Given the description of an element on the screen output the (x, y) to click on. 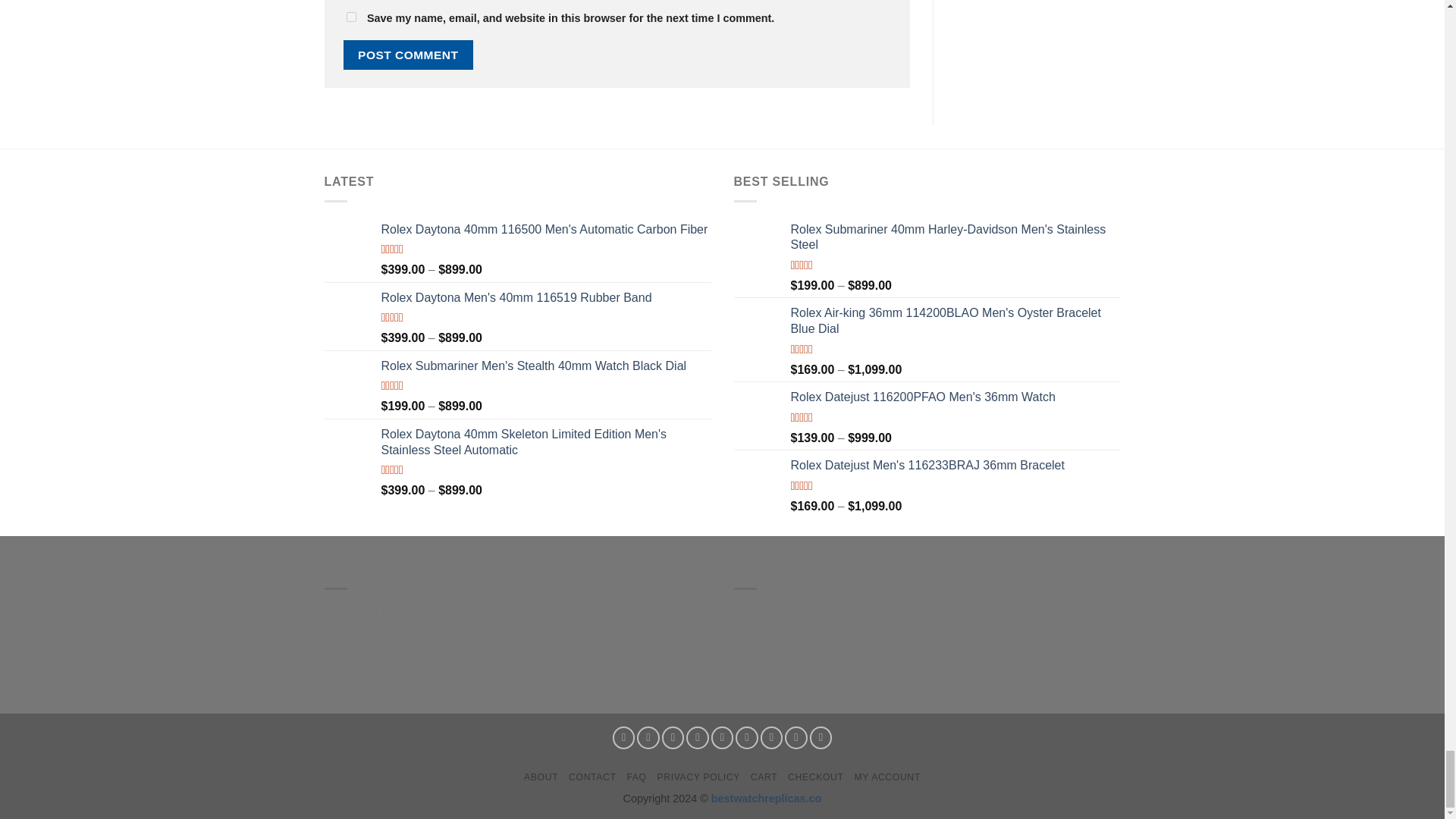
Follow on Facebook (623, 737)
yes (350, 17)
Post Comment (407, 54)
